Given the description of an element on the screen output the (x, y) to click on. 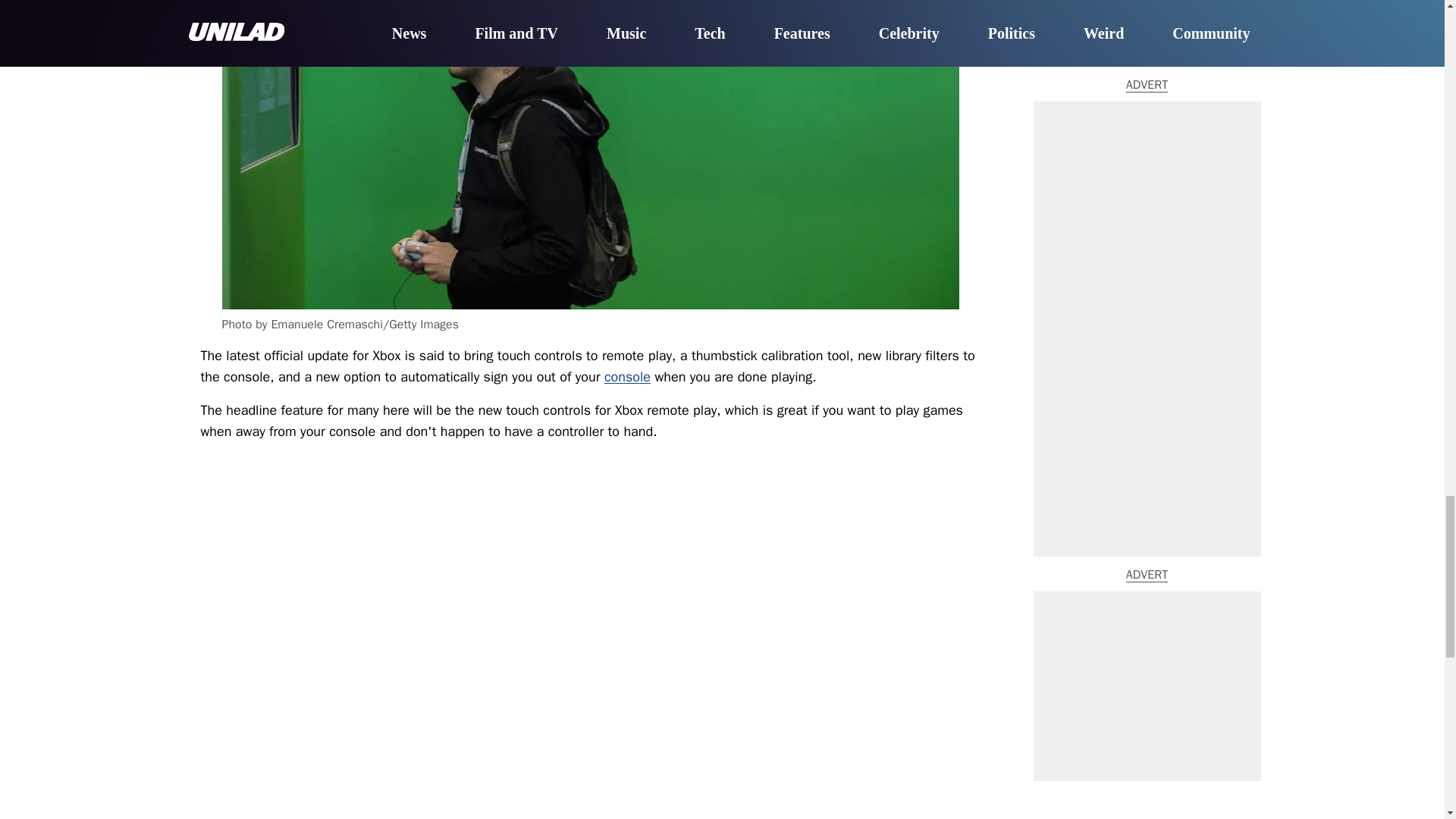
console (627, 376)
